Given the description of an element on the screen output the (x, y) to click on. 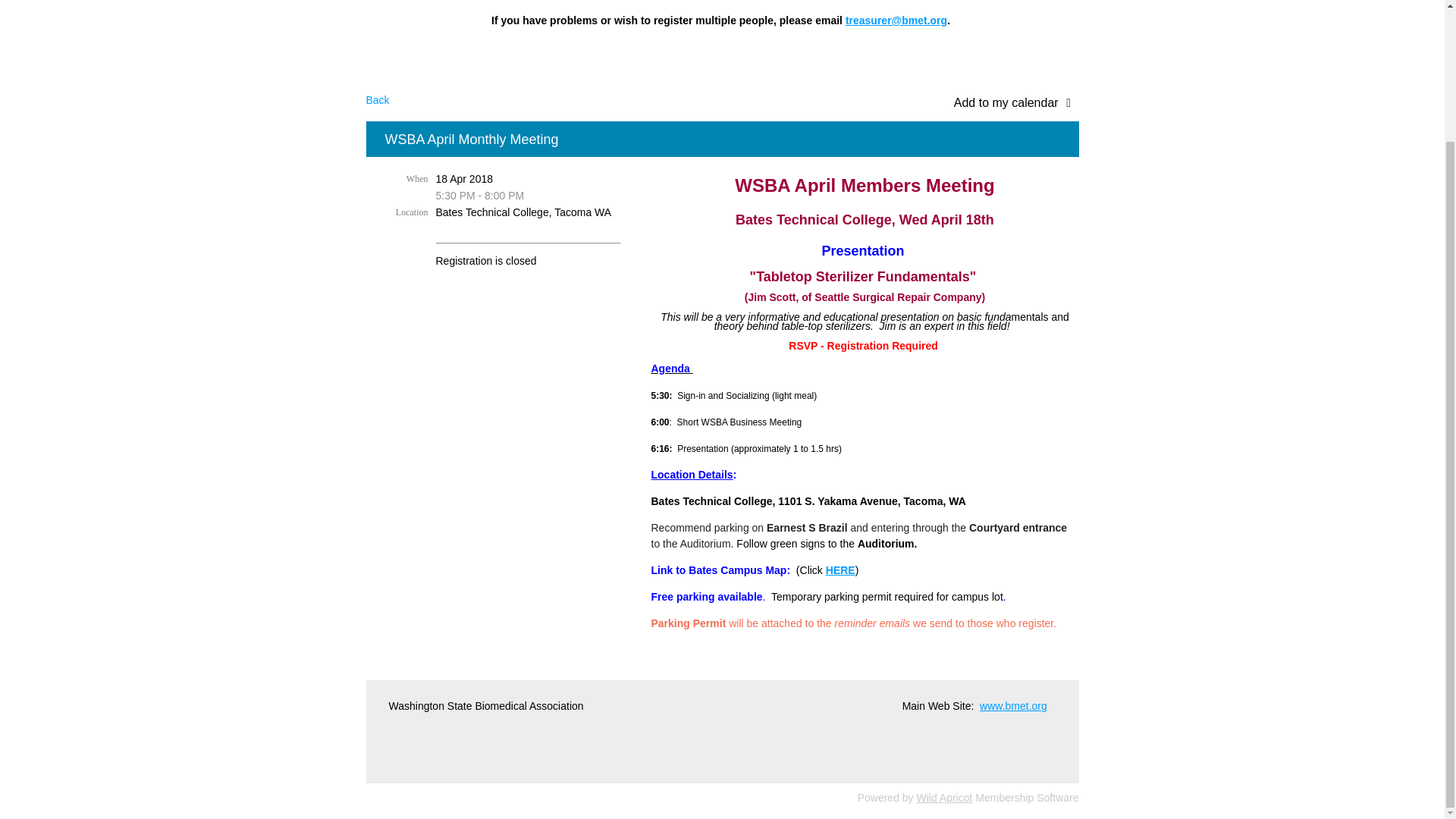
Wild Apricot (944, 797)
HERE (840, 570)
www.bmet.org (1012, 705)
Back (376, 100)
